Given the description of an element on the screen output the (x, y) to click on. 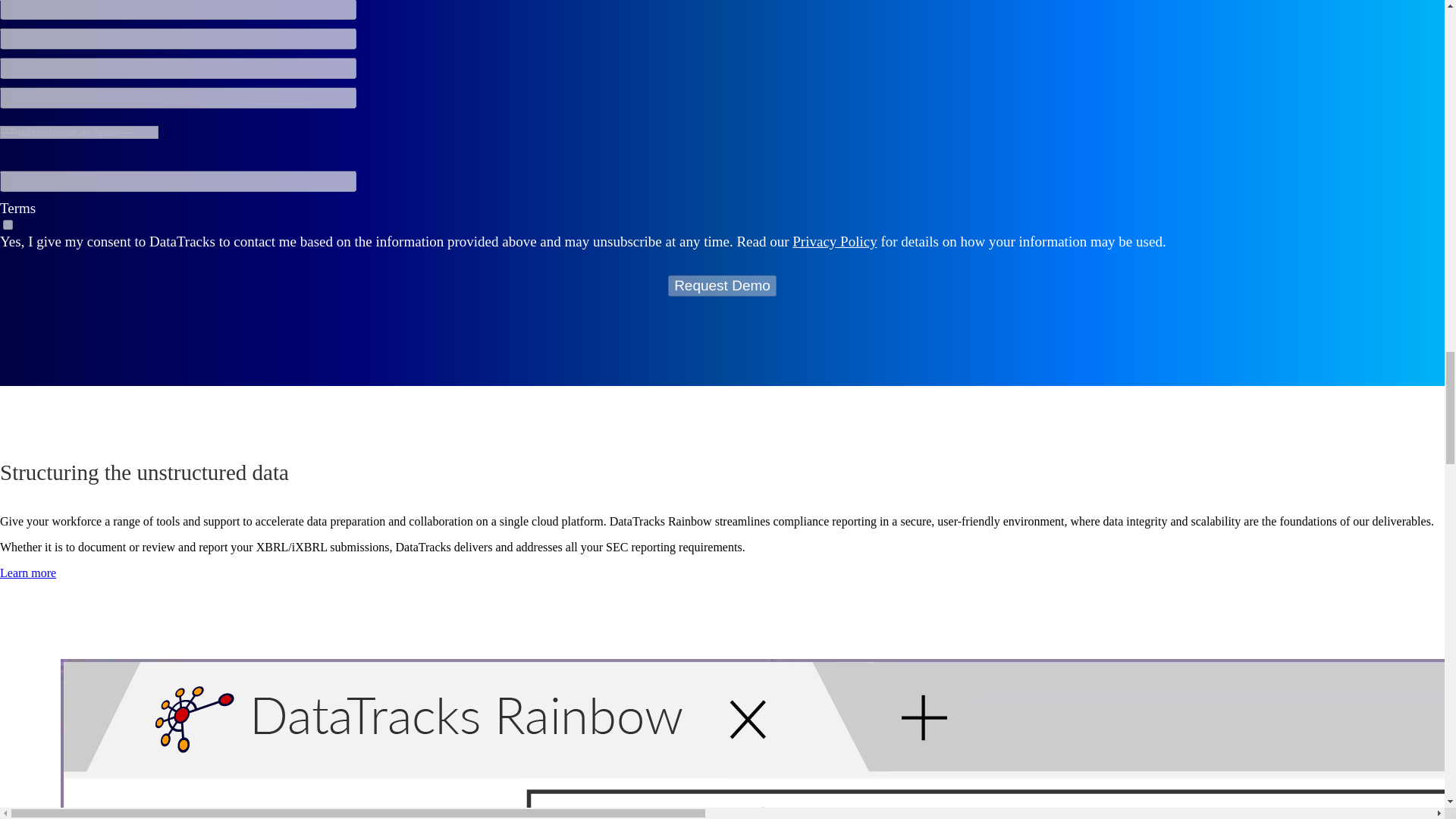
1 (7, 225)
Request Demo (722, 285)
